Given the description of an element on the screen output the (x, y) to click on. 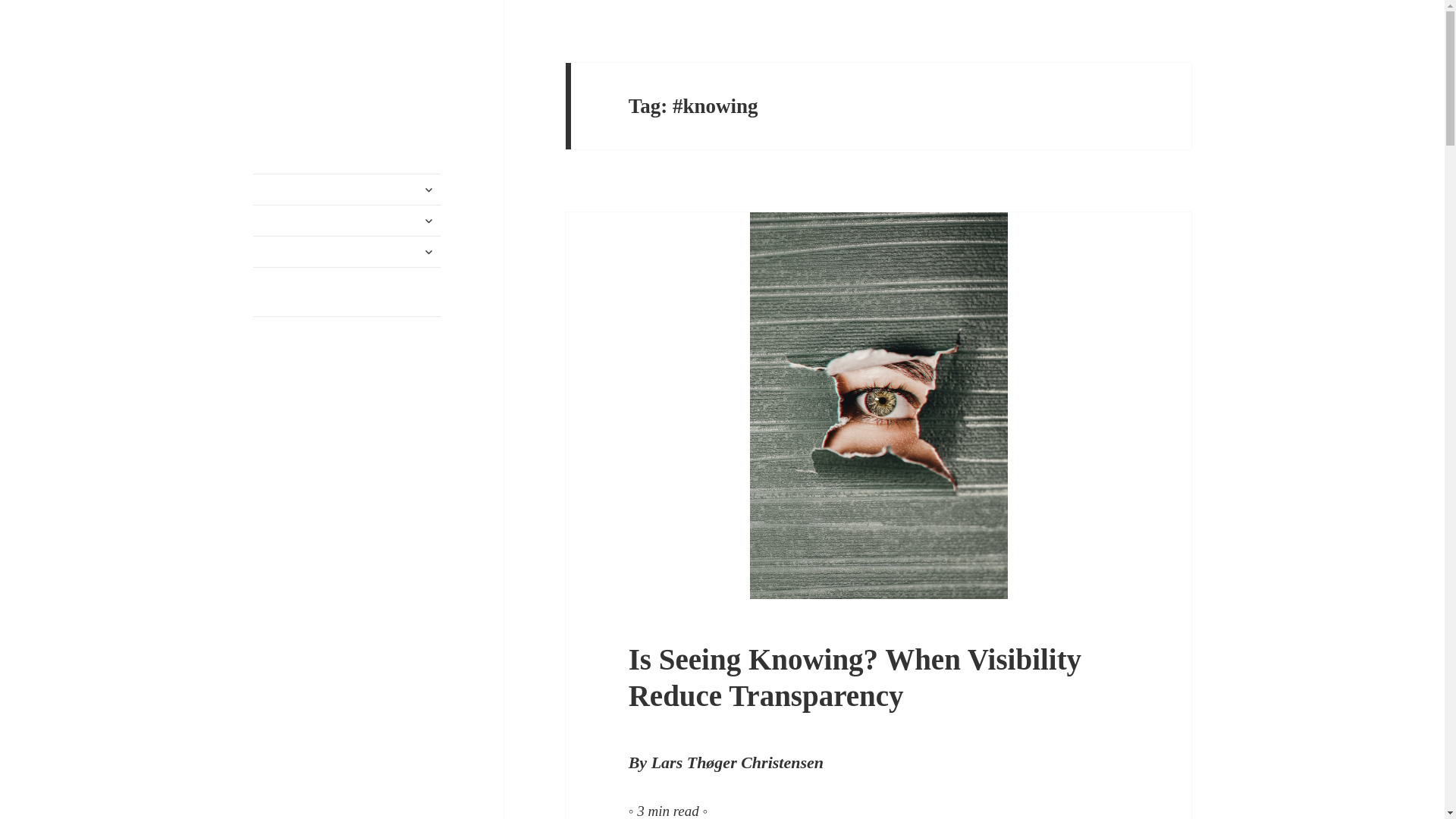
expand child menu (428, 220)
expand child menu (428, 189)
BOS (275, 74)
